Given the description of an element on the screen output the (x, y) to click on. 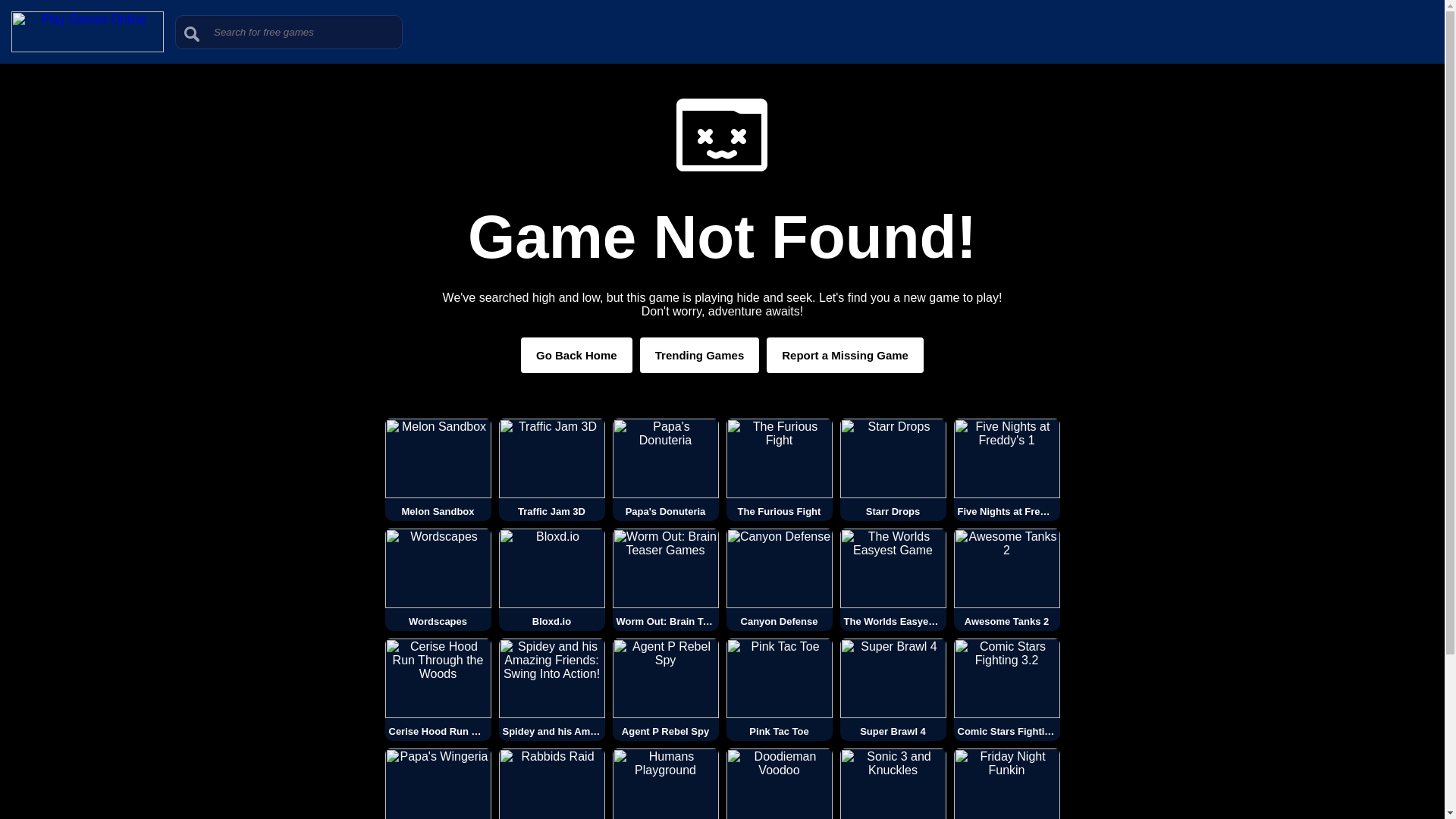
Papa's Wingeria (438, 783)
Spidey and his Amazing Friends: Swing Into Action! (552, 689)
Sonic 3 and Knuckles (893, 783)
Papa's Donuteria (665, 469)
Starr Drops (893, 469)
Play Games Online (87, 47)
Traffic Jam 3D (552, 469)
Five Nights at Freddy's 1 (1006, 469)
Pink Tac Toe (779, 689)
Trending Games (700, 355)
